Given the description of an element on the screen output the (x, y) to click on. 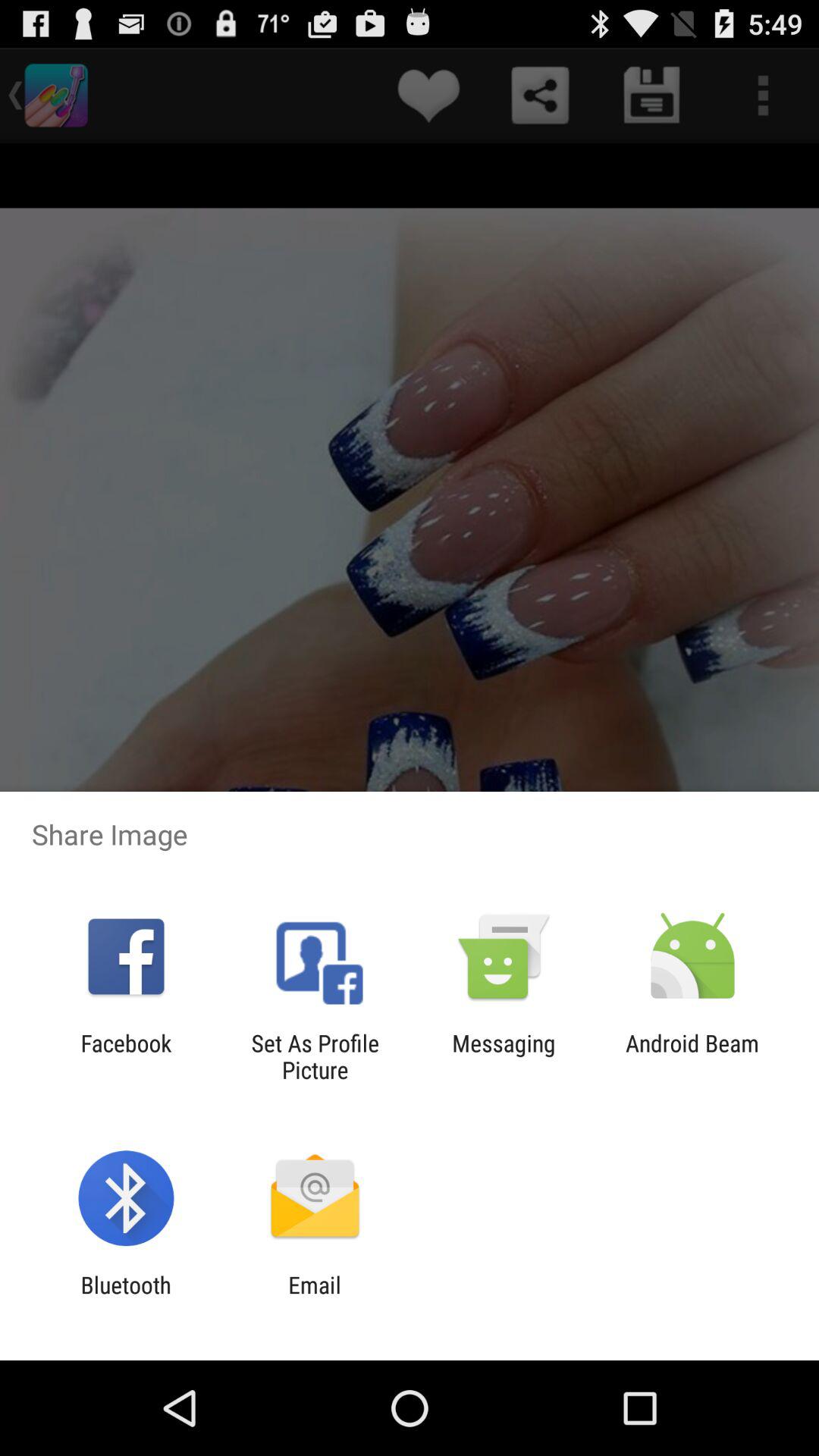
swipe to android beam (692, 1056)
